Given the description of an element on the screen output the (x, y) to click on. 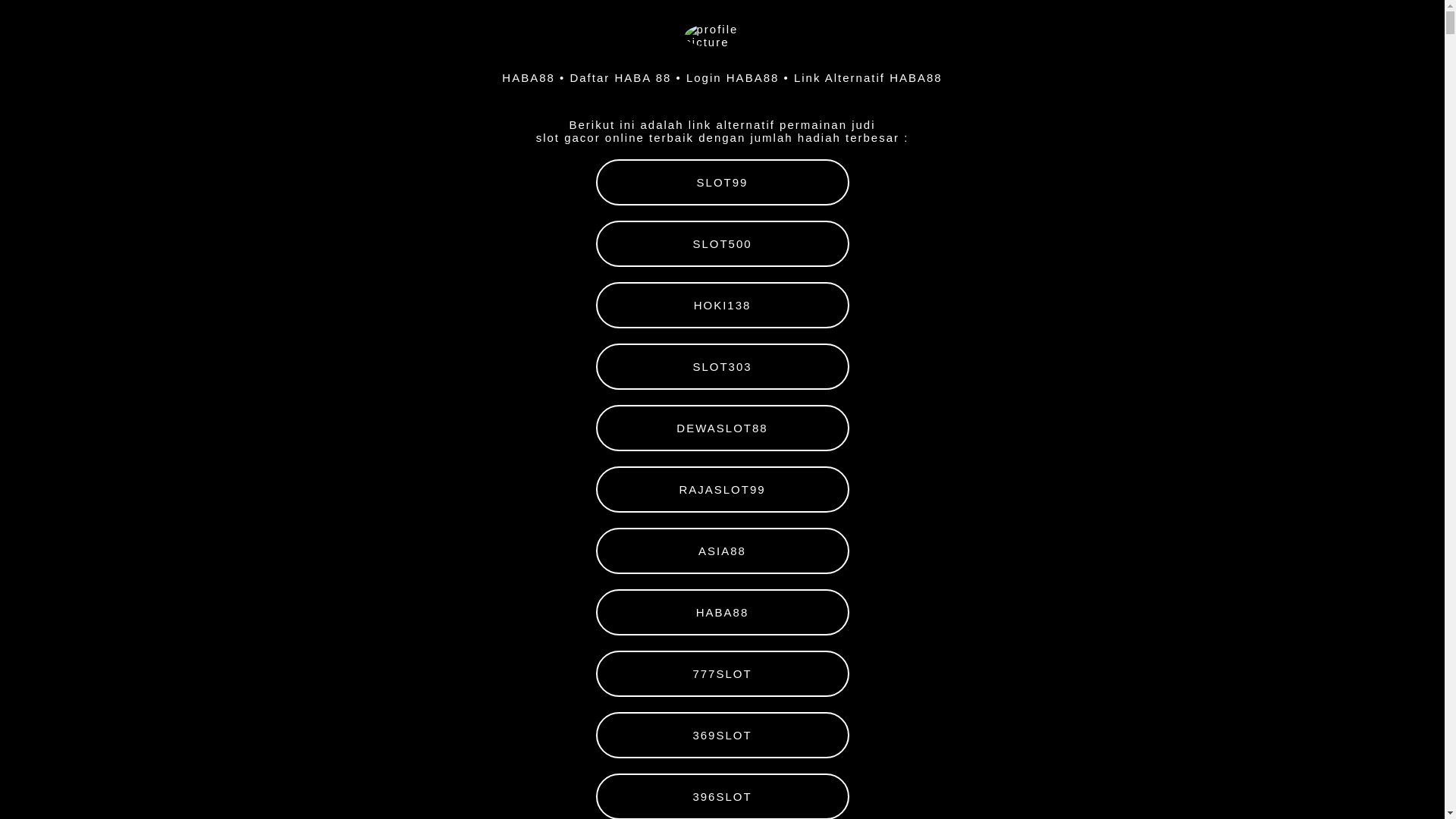
ASIA88 Element type: text (722, 550)
SLOT303 Element type: text (722, 366)
RAJASLOT99 Element type: text (722, 489)
369SLOT Element type: text (722, 735)
DEWASLOT88 Element type: text (722, 427)
HABA88 Element type: text (722, 612)
HOKI138 Element type: text (722, 305)
SLOT99 Element type: text (722, 182)
777SLOT Element type: text (722, 673)
SLOT500 Element type: text (722, 243)
